Given the description of an element on the screen output the (x, y) to click on. 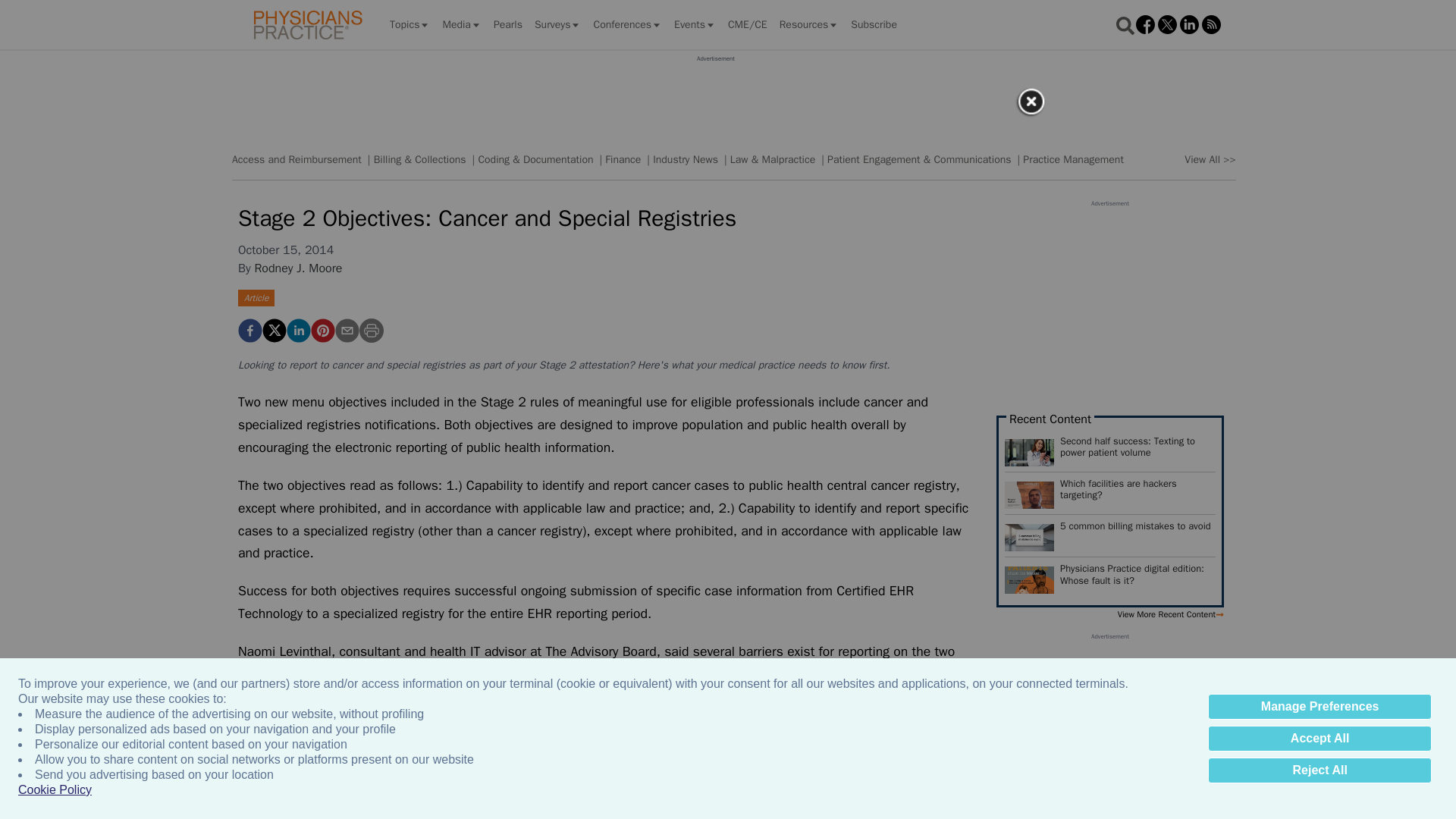
Cookie Policy (54, 789)
Manage Preferences (1319, 706)
Pearls (507, 23)
Stage 2 Objectives: Cancer and Special Registries (250, 330)
Stage 2 Objectives: Cancer and Special Registries (322, 330)
Reject All (1319, 769)
Subscribe (873, 23)
Accept All (1319, 738)
3rd party ad content (715, 97)
